Given the description of an element on the screen output the (x, y) to click on. 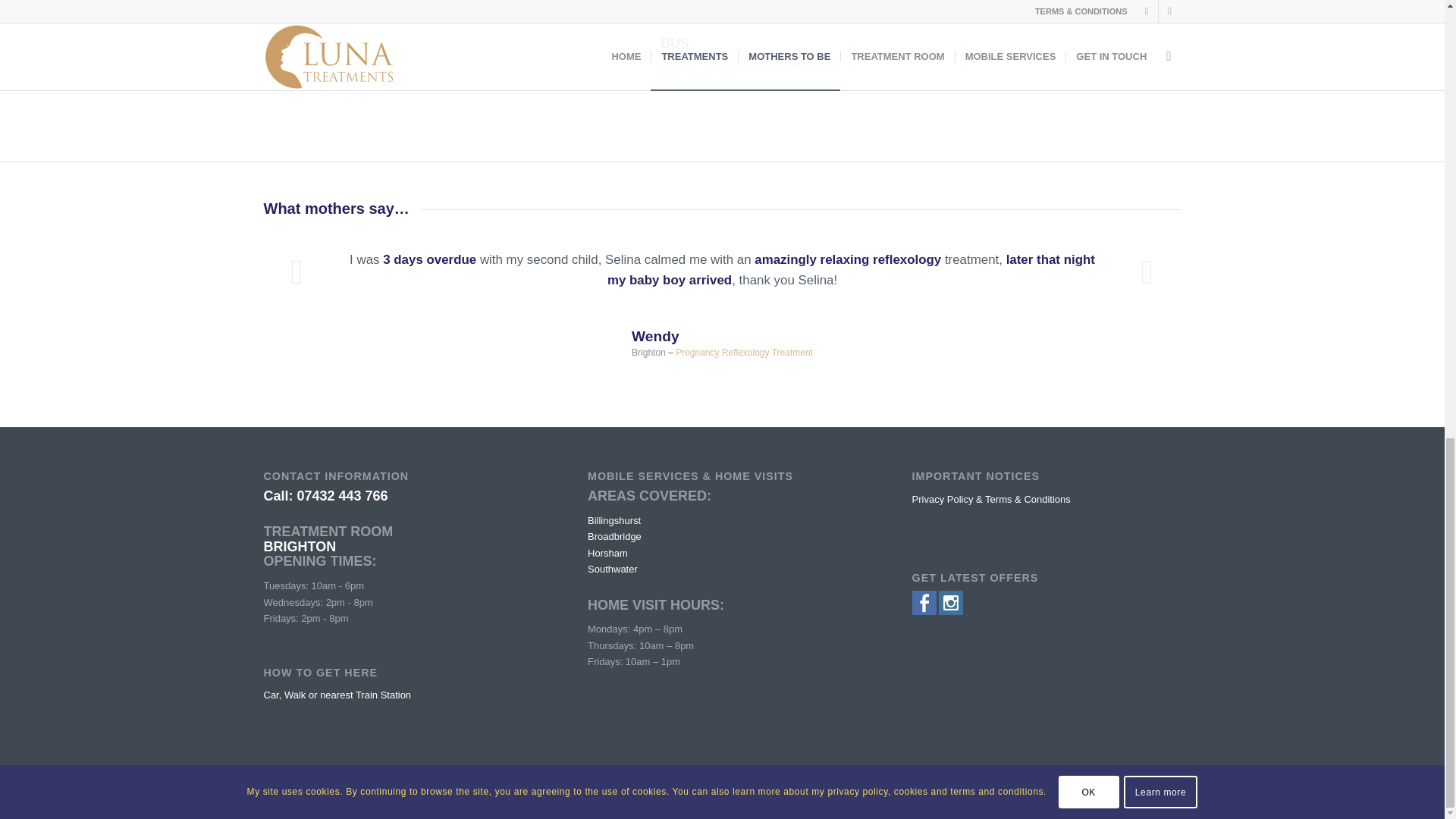
Instagram (950, 611)
Facebook (924, 611)
Instagram (1169, 798)
Bus (674, 43)
Facebook (1146, 798)
